Given the description of an element on the screen output the (x, y) to click on. 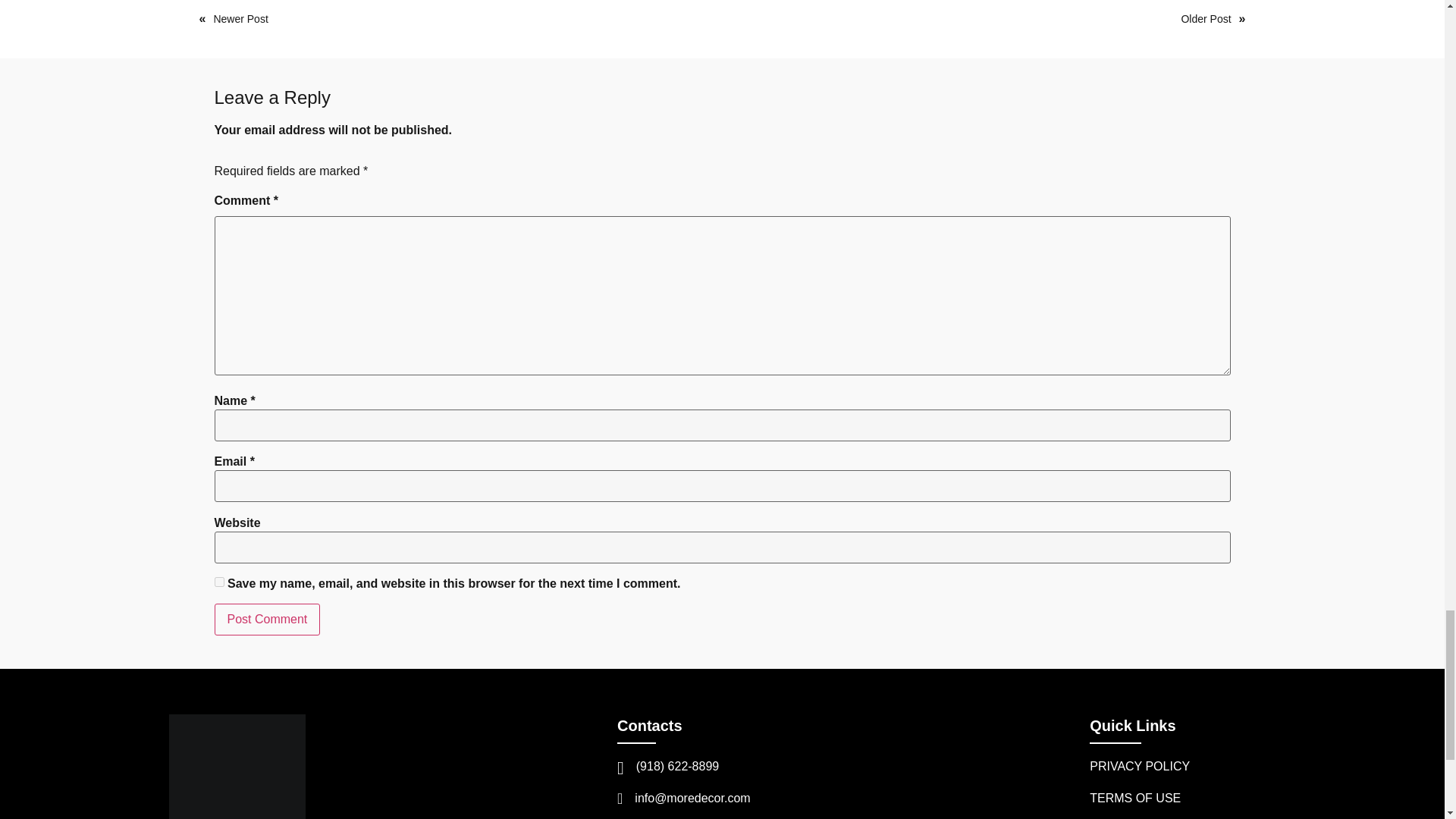
yes (219, 582)
Post Comment (267, 619)
Older Post (1205, 19)
cropped-More-decor-transparent-background-1.png (236, 766)
Post Comment (267, 619)
Newer Post (239, 19)
